Given the description of an element on the screen output the (x, y) to click on. 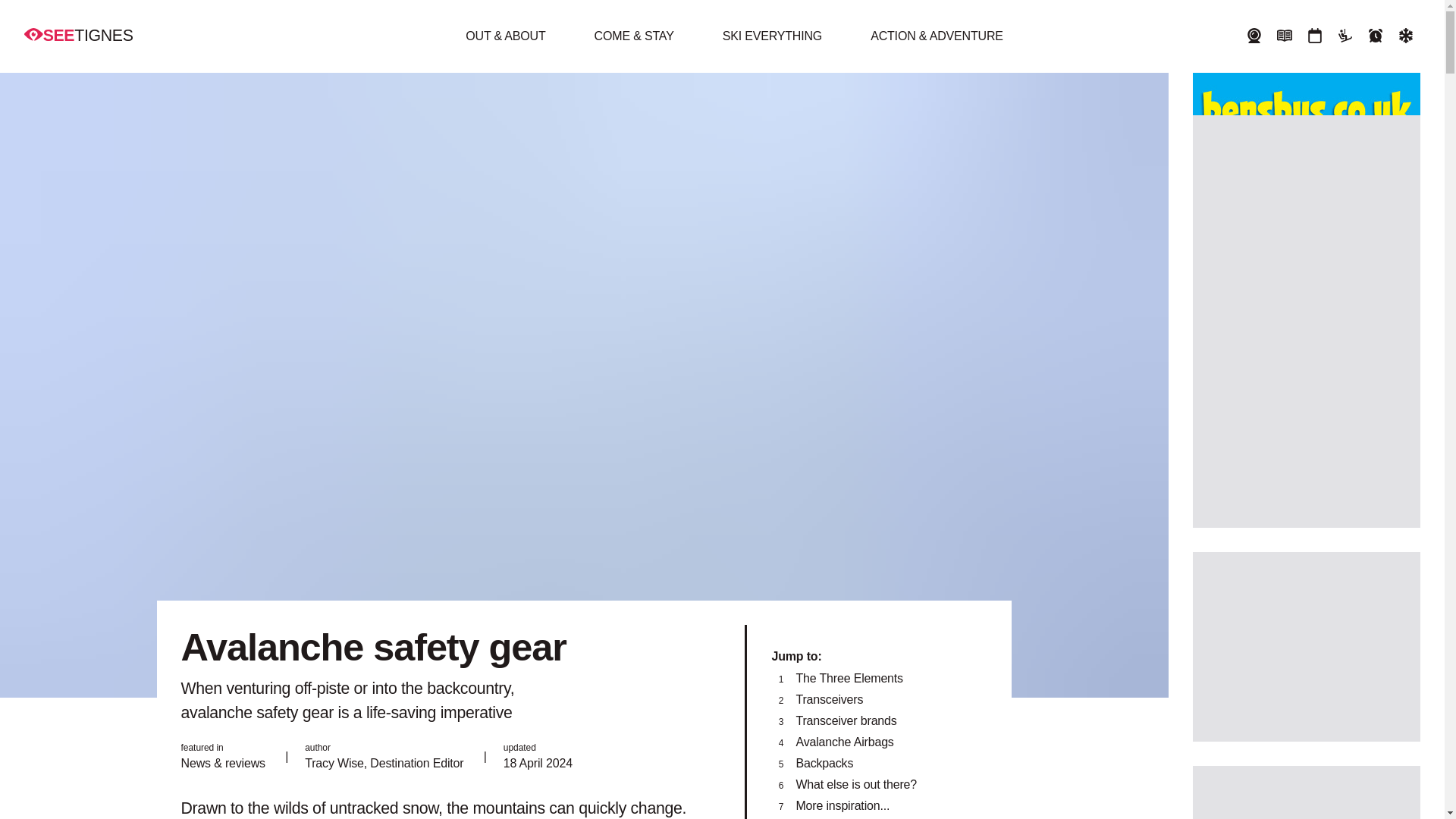
Go to home page (78, 35)
Lifts (1345, 36)
SEETIGNES (78, 35)
News (1284, 36)
Season (1375, 36)
Events (1314, 36)
Snow (1406, 36)
Webcams (1254, 36)
